Given the description of an element on the screen output the (x, y) to click on. 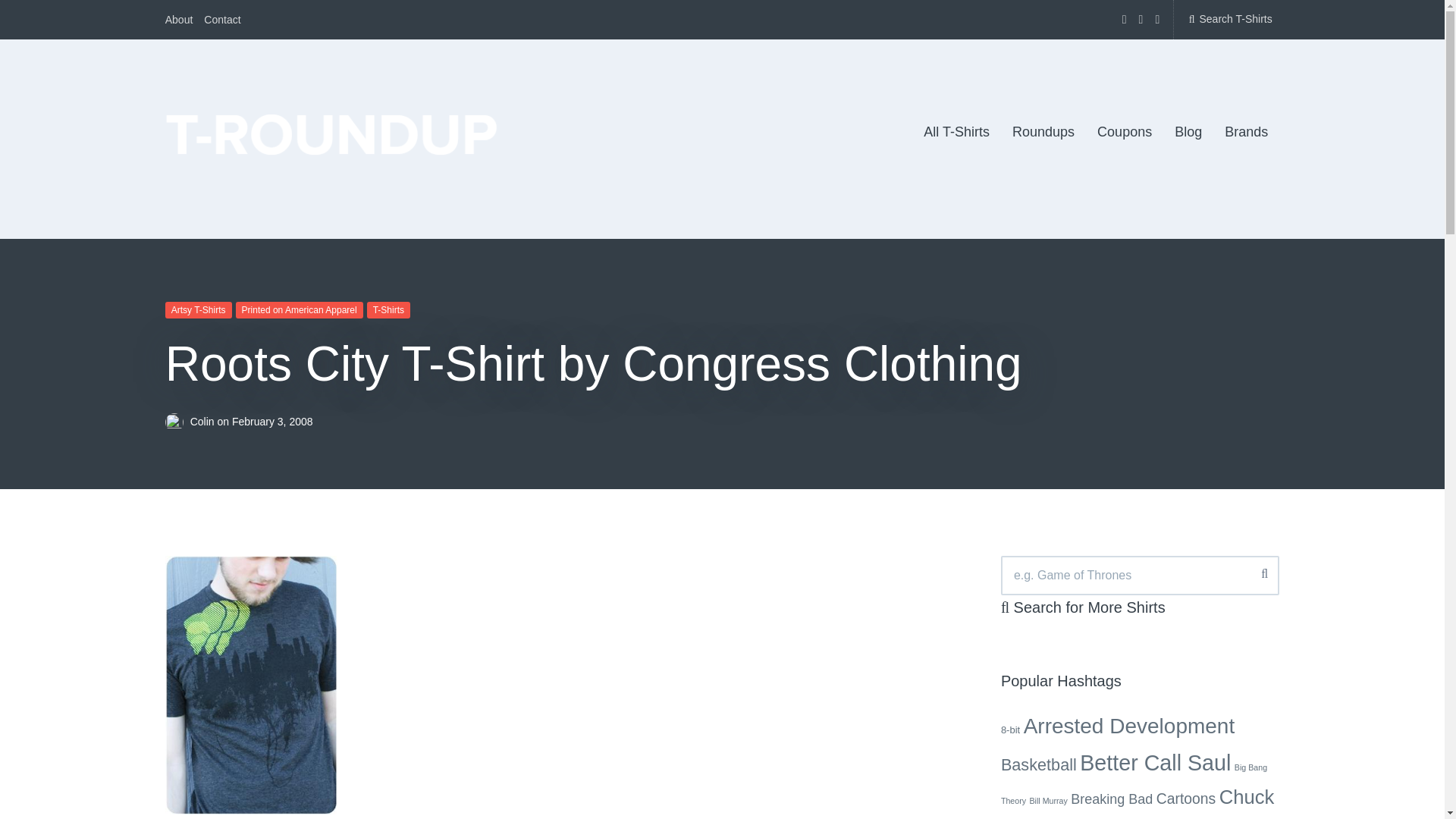
Contact (221, 19)
